Given the description of an element on the screen output the (x, y) to click on. 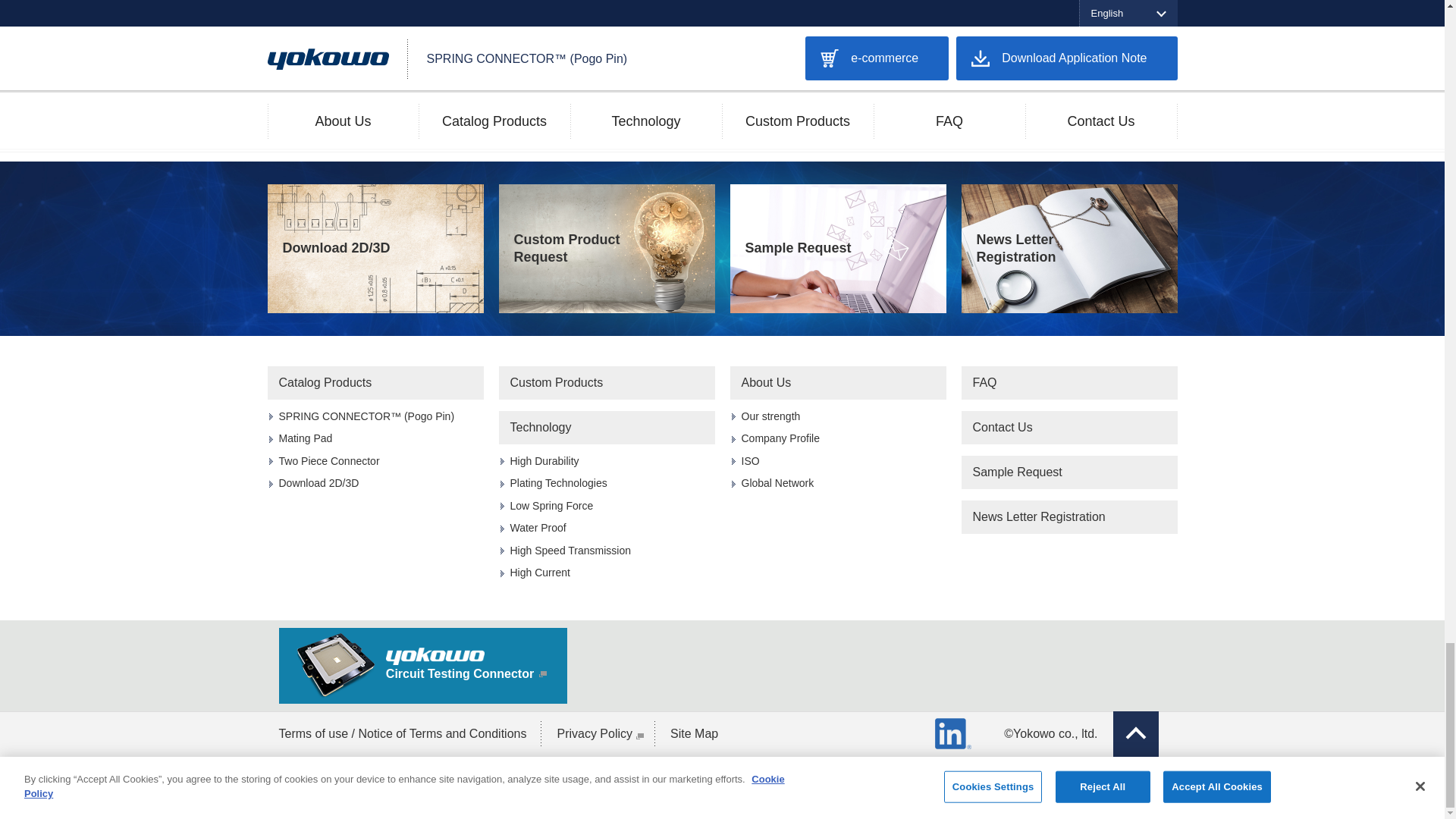
Technology (606, 427)
Two Piece Connector (329, 460)
Sample Request (836, 248)
High Durability (543, 460)
Mating Pad (306, 438)
Search High Speed Transmission Connectors (721, 59)
Custom Products (606, 382)
News Letter Registration (1068, 248)
Custom Product Request (606, 248)
Catalog Products (374, 382)
